Given the description of an element on the screen output the (x, y) to click on. 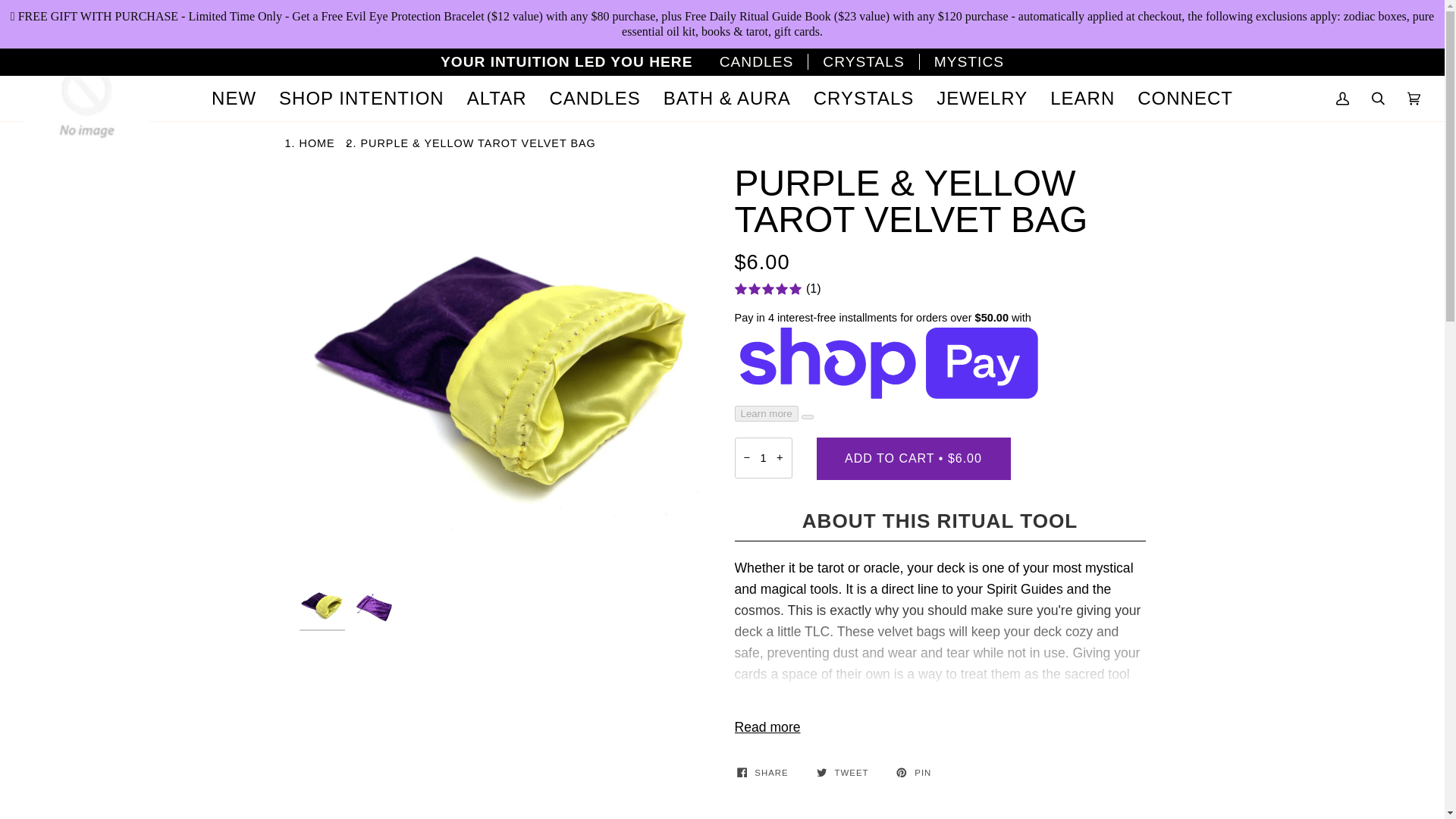
SHOP INTENTION (361, 98)
1 (762, 457)
ALTAR (496, 98)
Back to the frontpage (318, 143)
NEW (233, 98)
